Given the description of an element on the screen output the (x, y) to click on. 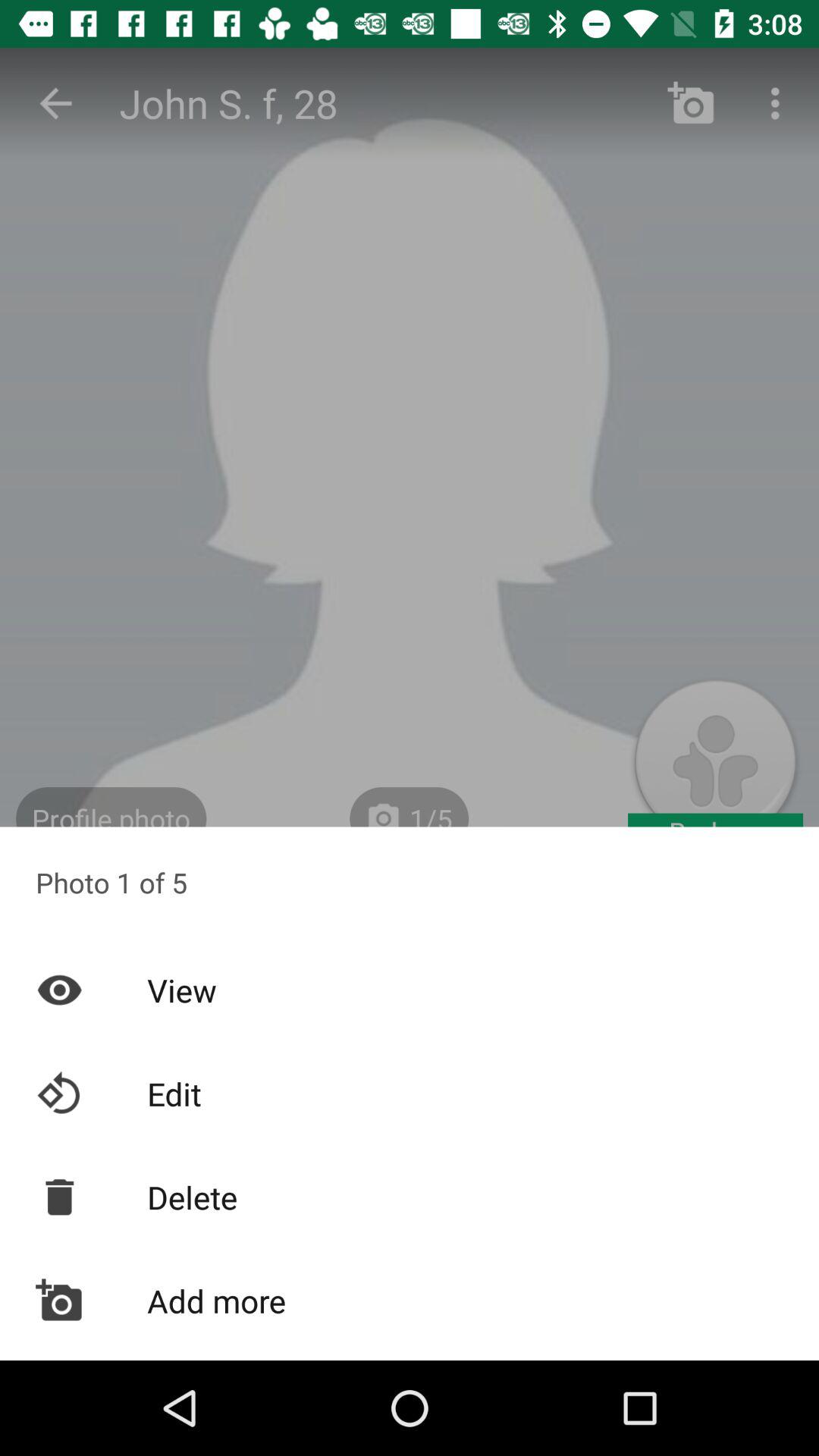
turn on icon below edit icon (409, 1196)
